Given the description of an element on the screen output the (x, y) to click on. 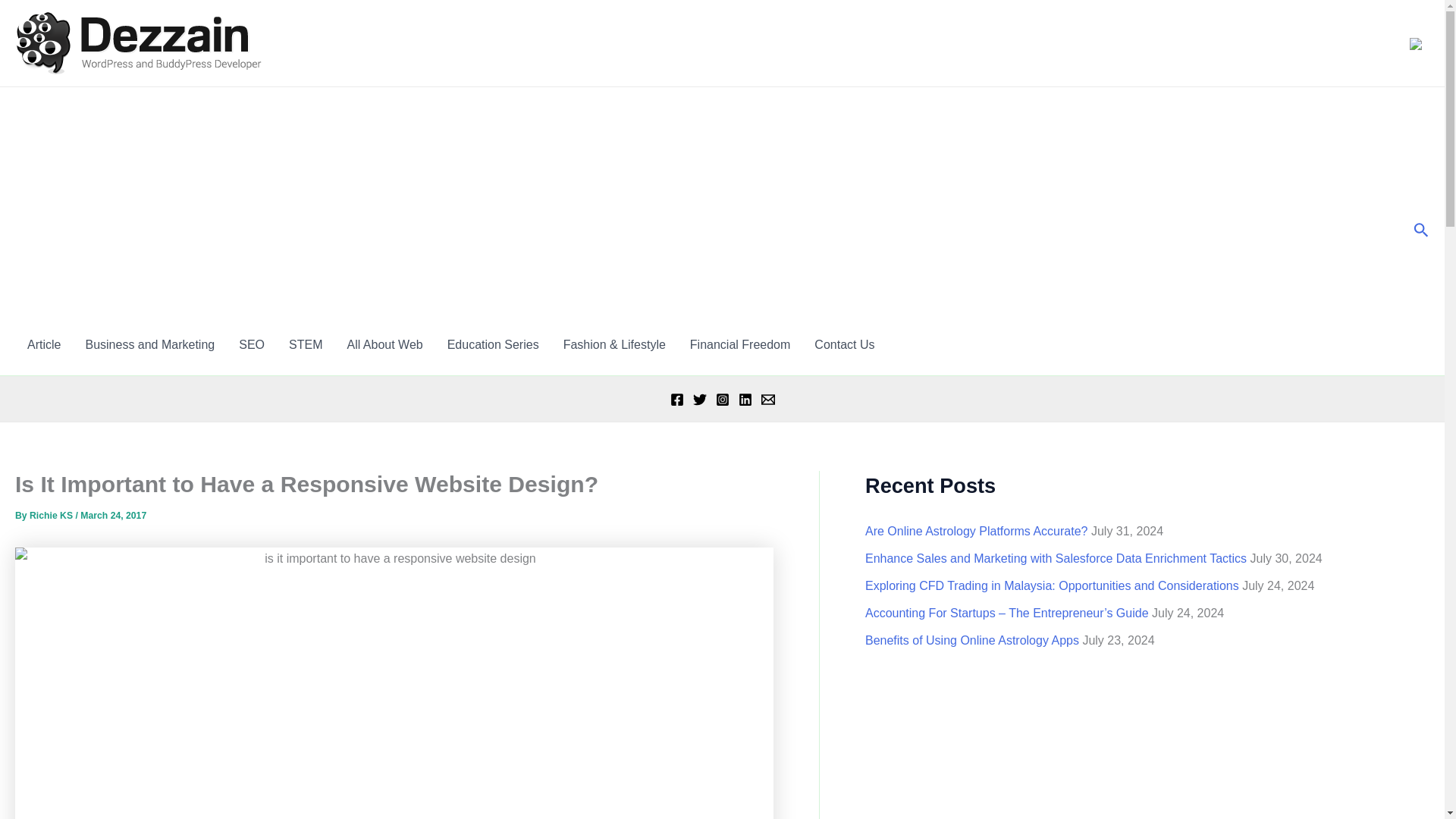
STEM (305, 344)
any inquiries? (844, 344)
Article (43, 344)
Financial Freedom (740, 344)
Richie KS (52, 515)
Business and Marketing (149, 344)
View all posts by Richie KS (52, 515)
All About Web (383, 344)
Education Series (493, 344)
Contact Us (844, 344)
